Given the description of an element on the screen output the (x, y) to click on. 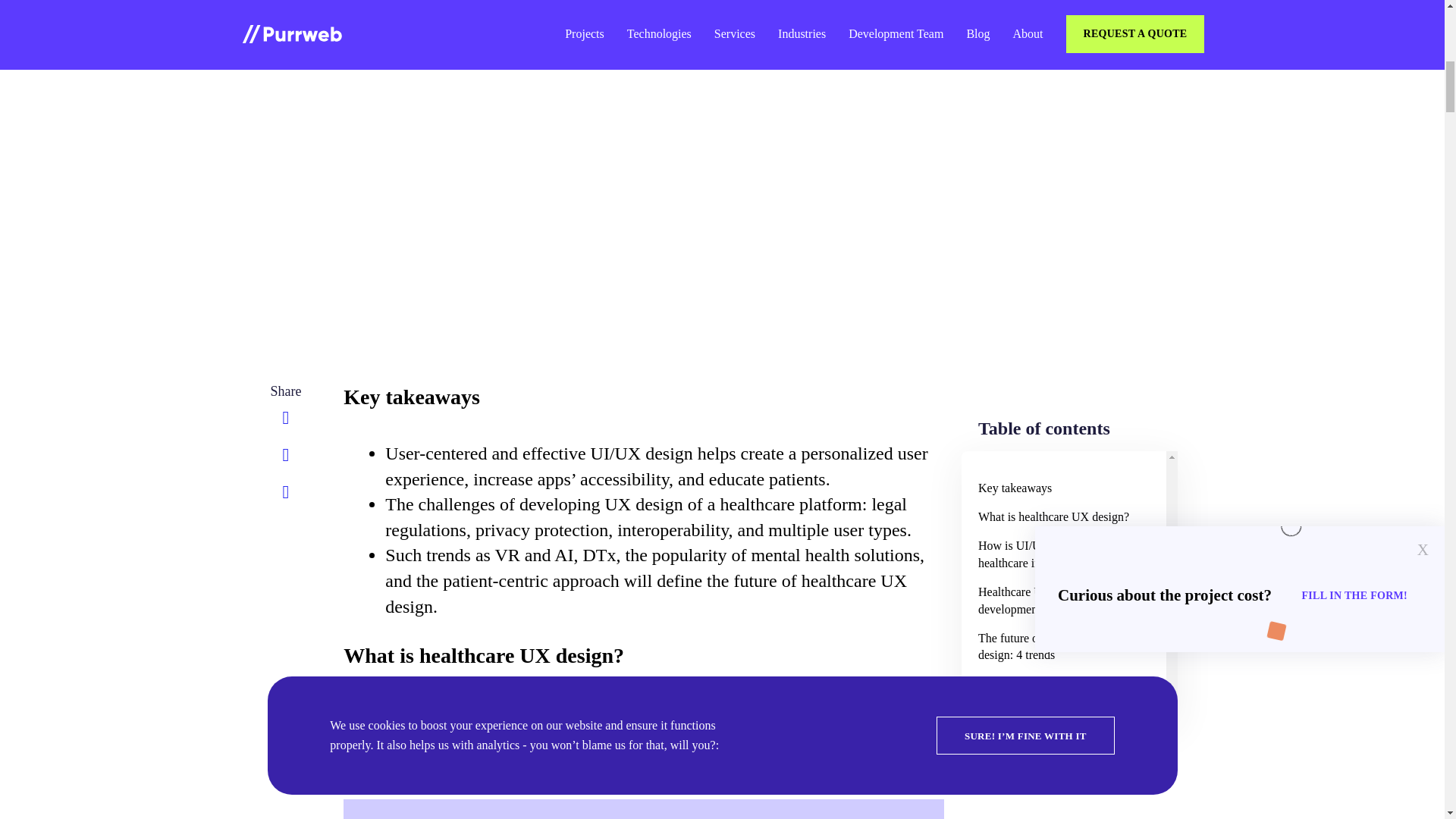
Final words (1063, 684)
Key takeaways (1063, 488)
What is healthcare UX design? (1063, 516)
The future of healthcare UX design: 4 trends (1063, 647)
Healthcare UX design and development: key challenges (1063, 601)
